Given the description of an element on the screen output the (x, y) to click on. 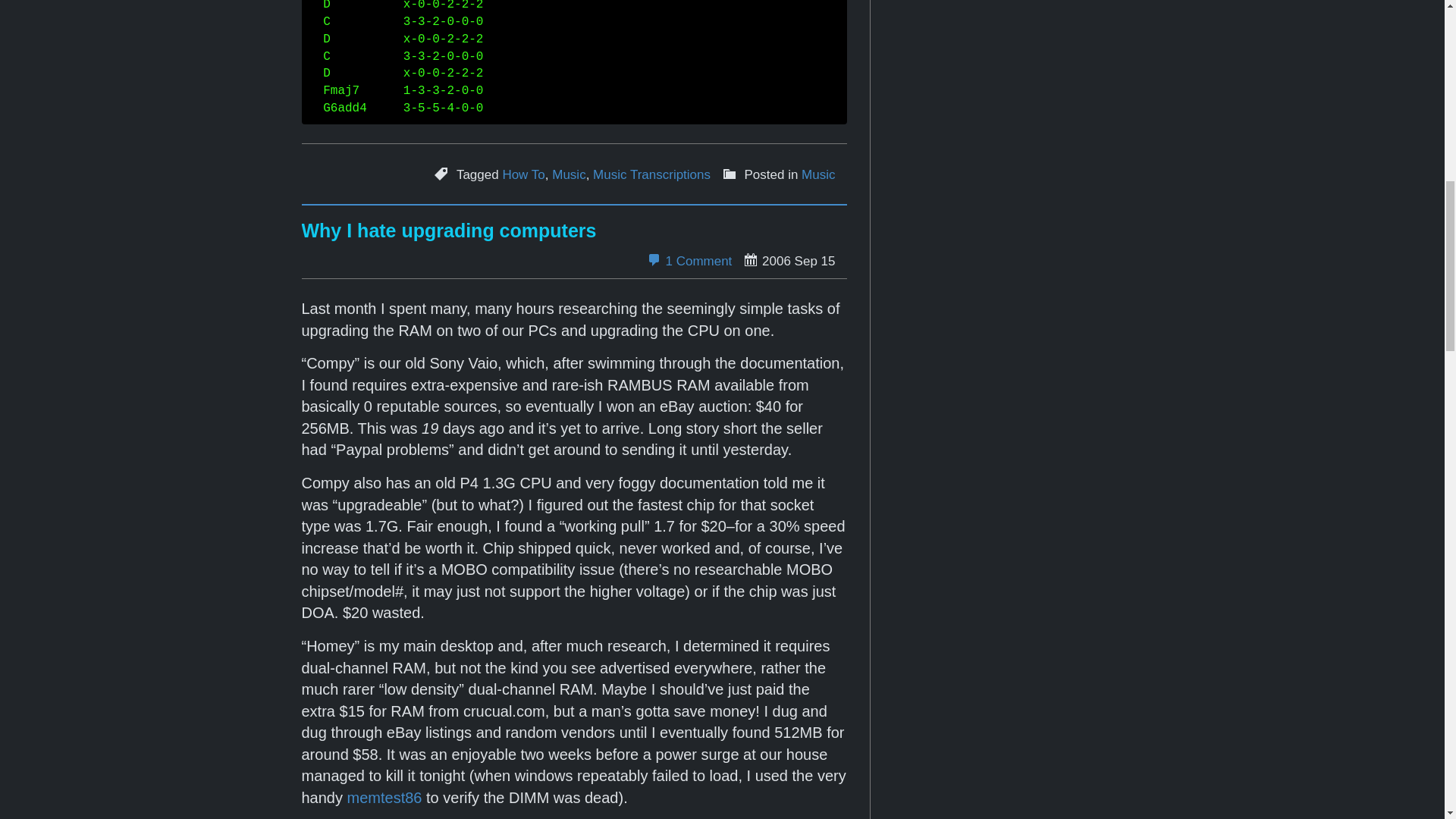
Music (818, 175)
Music Transcriptions (651, 175)
Why I hate upgrading computers (448, 230)
memtest86 (384, 797)
Friday, September 15, 2006 11:48 pm (788, 260)
Music (568, 175)
How To (523, 175)
1 Comment (689, 260)
